Given the description of an element on the screen output the (x, y) to click on. 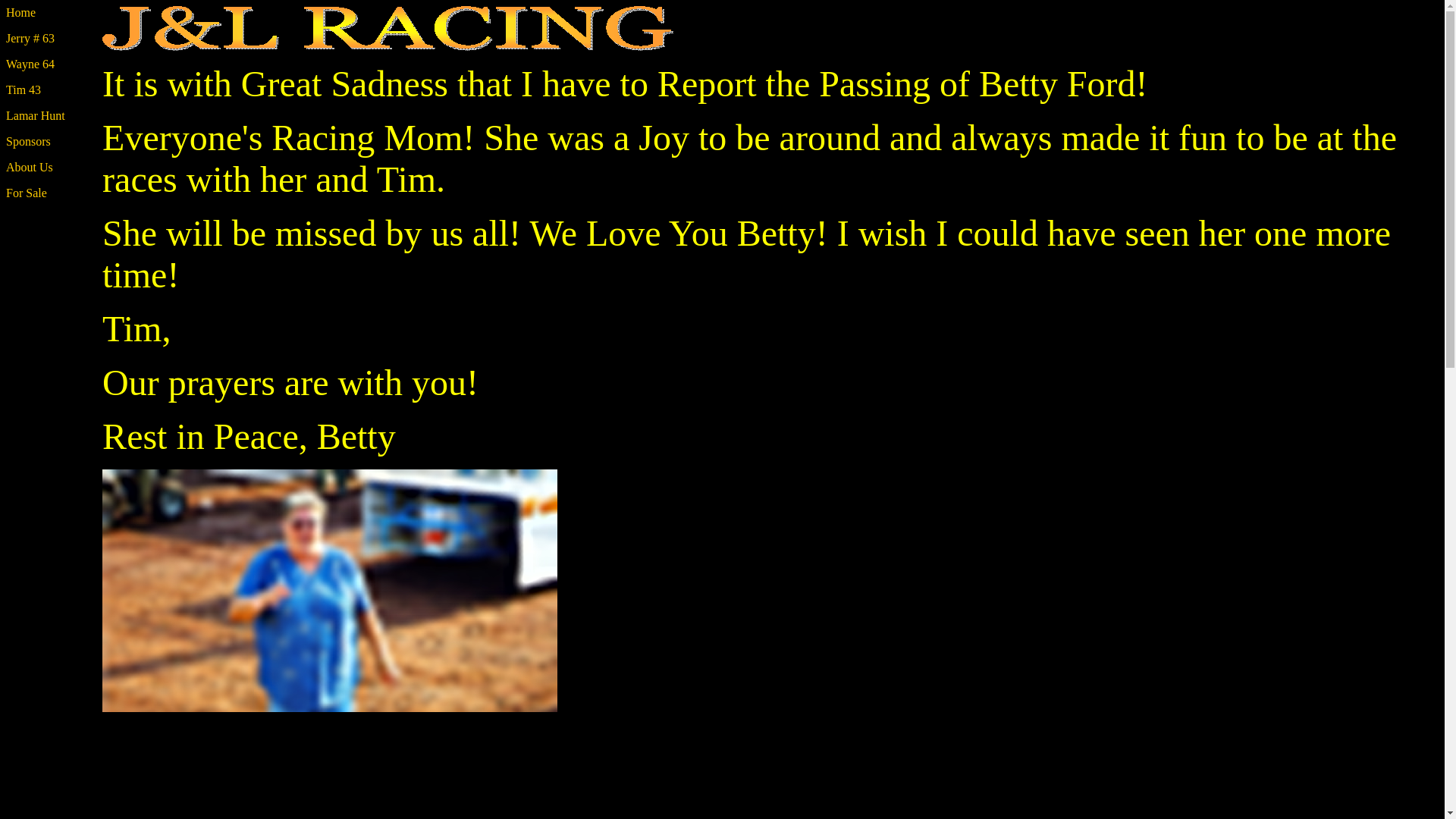
Wayne 64 (30, 63)
Lamar Hunt (35, 115)
Sponsors (27, 141)
Home                 (44, 11)
About Us (28, 166)
Tim 43 (22, 89)
For Sale (25, 192)
